Given the description of an element on the screen output the (x, y) to click on. 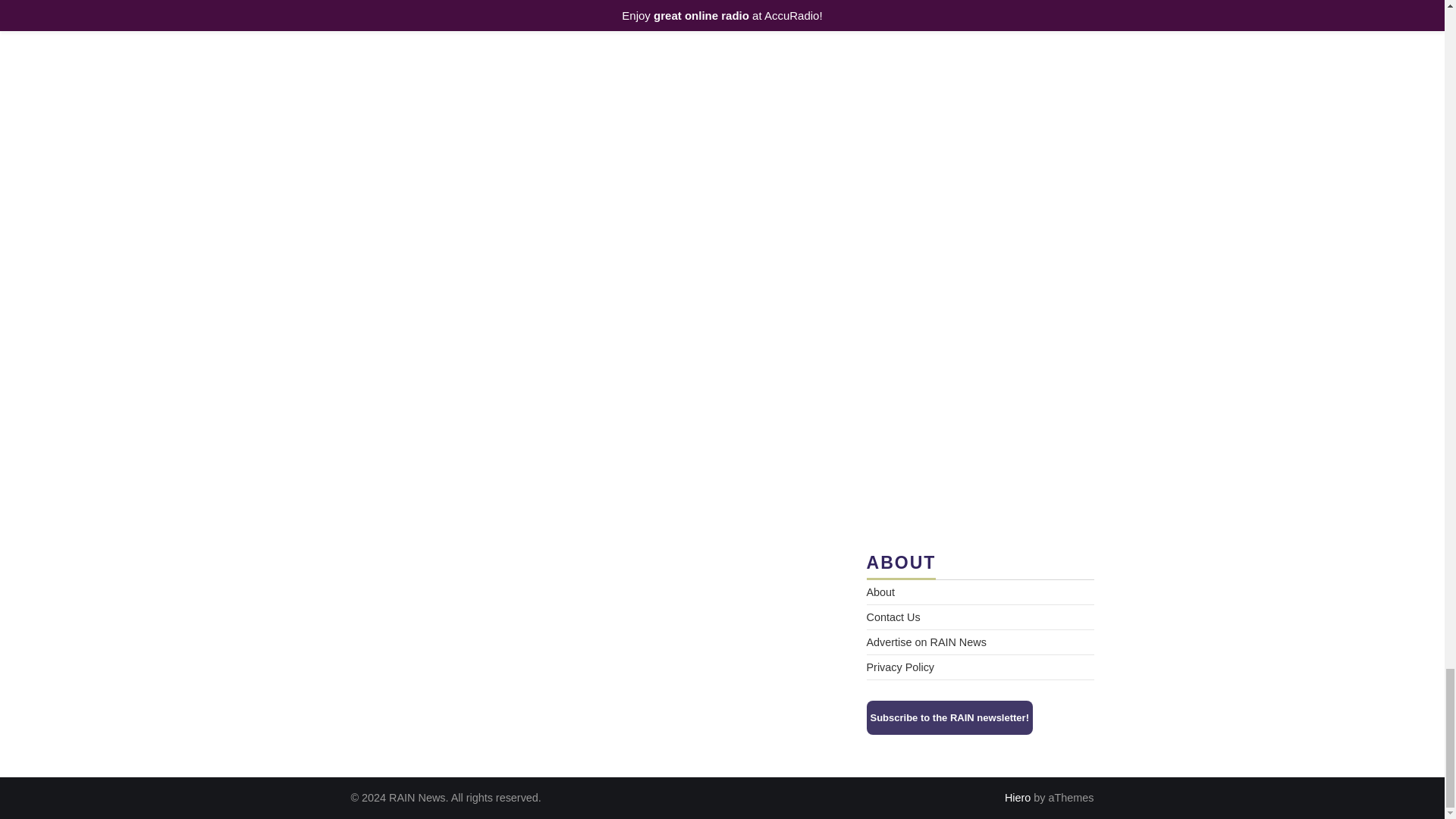
About (880, 592)
Kerri Hoffman: S1 Ep4 (979, 107)
Advertise on RAIN News (925, 642)
Subscribe to the RAIN newsletter! (949, 717)
Privacy Policy (900, 666)
Hiero (1017, 797)
Contact Us (893, 616)
